Given the description of an element on the screen output the (x, y) to click on. 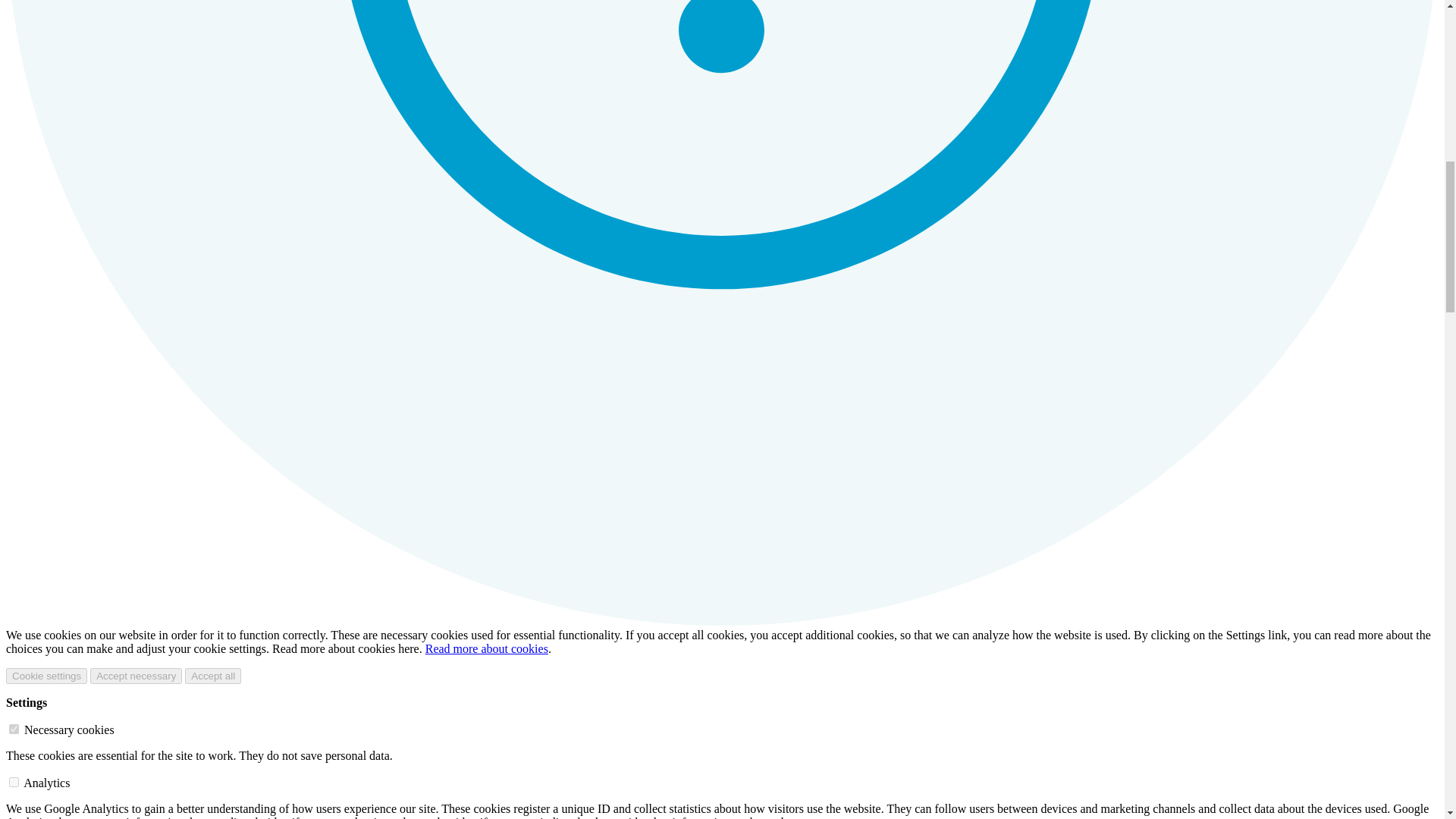
Cookie settings (46, 675)
Accept necessary (136, 675)
Accept all (212, 675)
Read more about cookies (486, 648)
stats (13, 782)
required (13, 728)
